Given the description of an element on the screen output the (x, y) to click on. 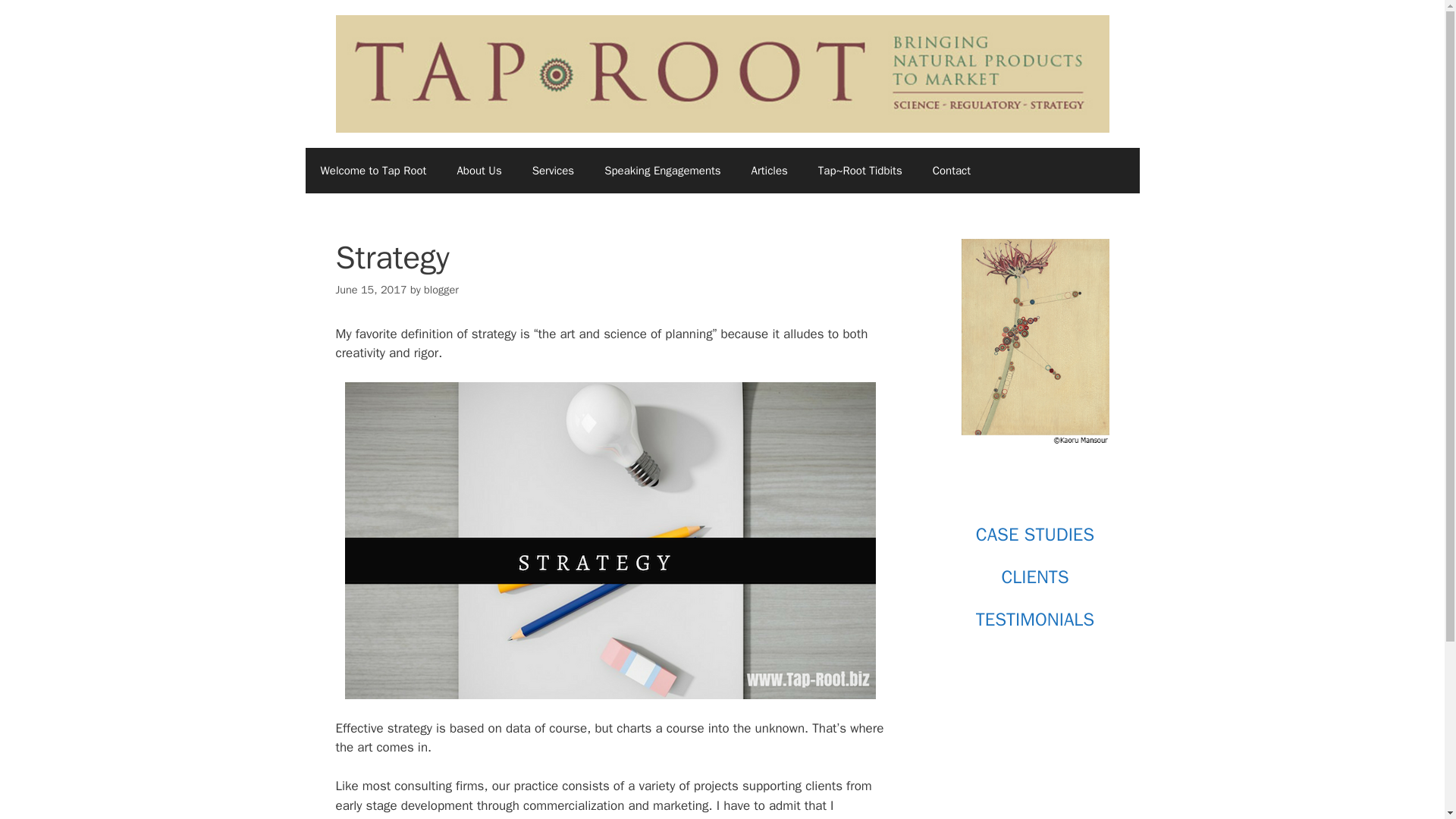
Welcome to Tap Root (372, 170)
Articles (769, 170)
CLIENTS (1034, 576)
CASE STUDIES (1034, 534)
About Us (478, 170)
Contact (951, 170)
Services (552, 170)
Speaking Engagements (662, 170)
TESTIMONIALS (1034, 619)
View all posts by blogger (440, 289)
blogger (440, 289)
